Given the description of an element on the screen output the (x, y) to click on. 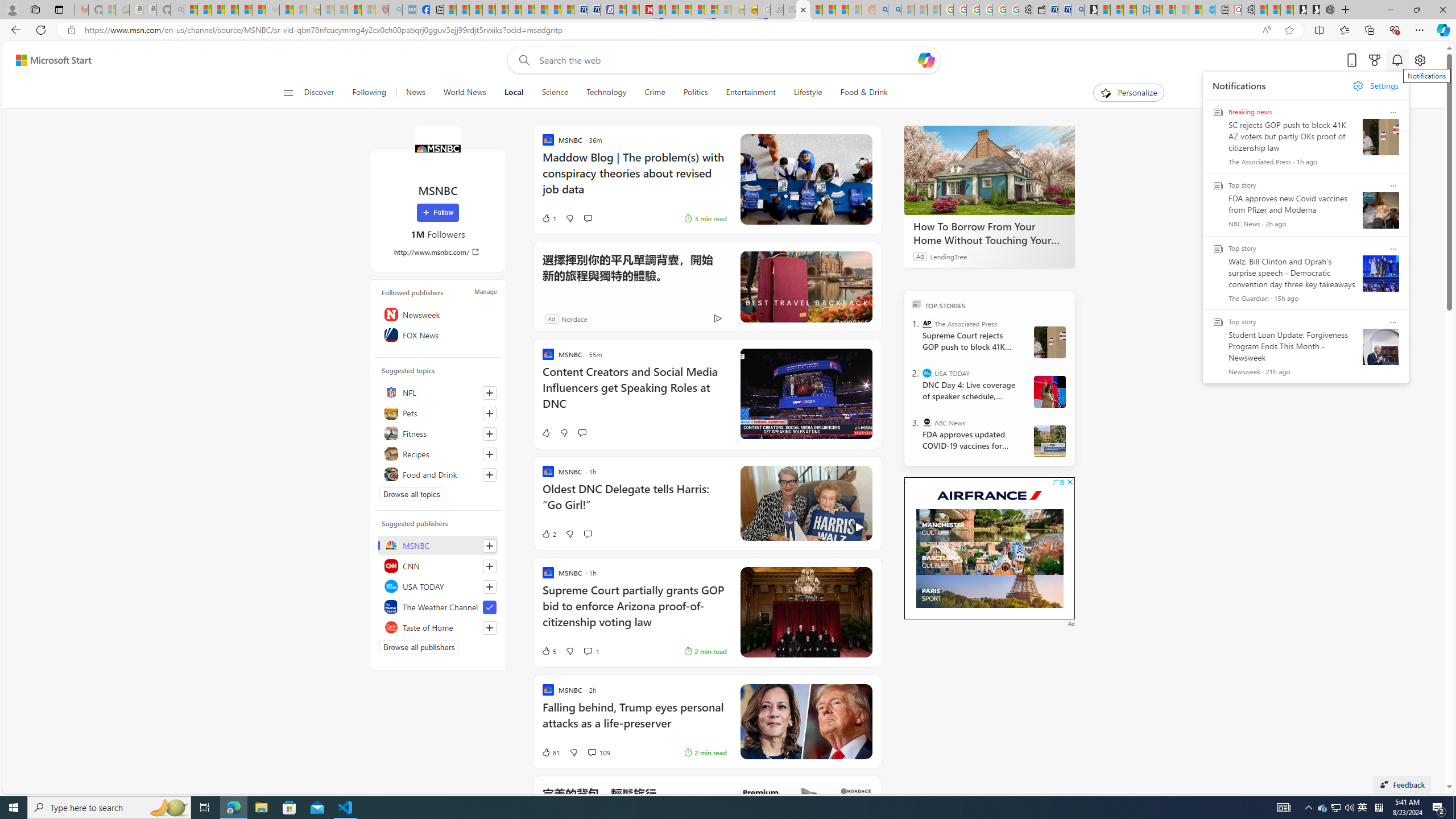
View comments 109 Comment (598, 752)
Cheap Hotels - Save70.com (593, 9)
To get missing image descriptions, open the context menu. (899, 482)
Wallet (1037, 9)
Robert H. Shmerling, MD - Harvard Health - Sleeping (381, 9)
Food & Drink (859, 92)
